Given the description of an element on the screen output the (x, y) to click on. 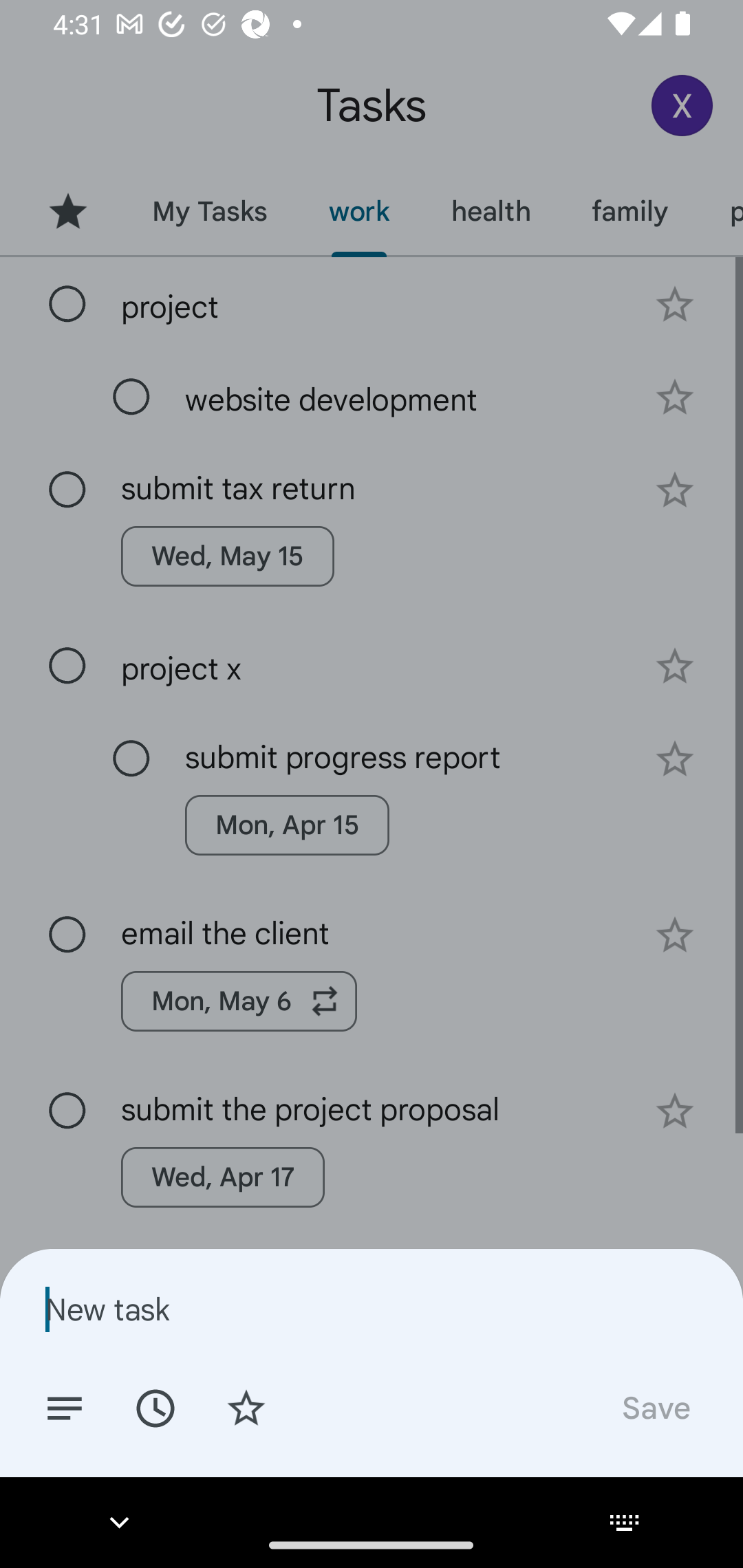
New task (371, 1308)
Save (655, 1407)
Add details (64, 1407)
Set date/time (154, 1407)
Add star (245, 1407)
